Given the description of an element on the screen output the (x, y) to click on. 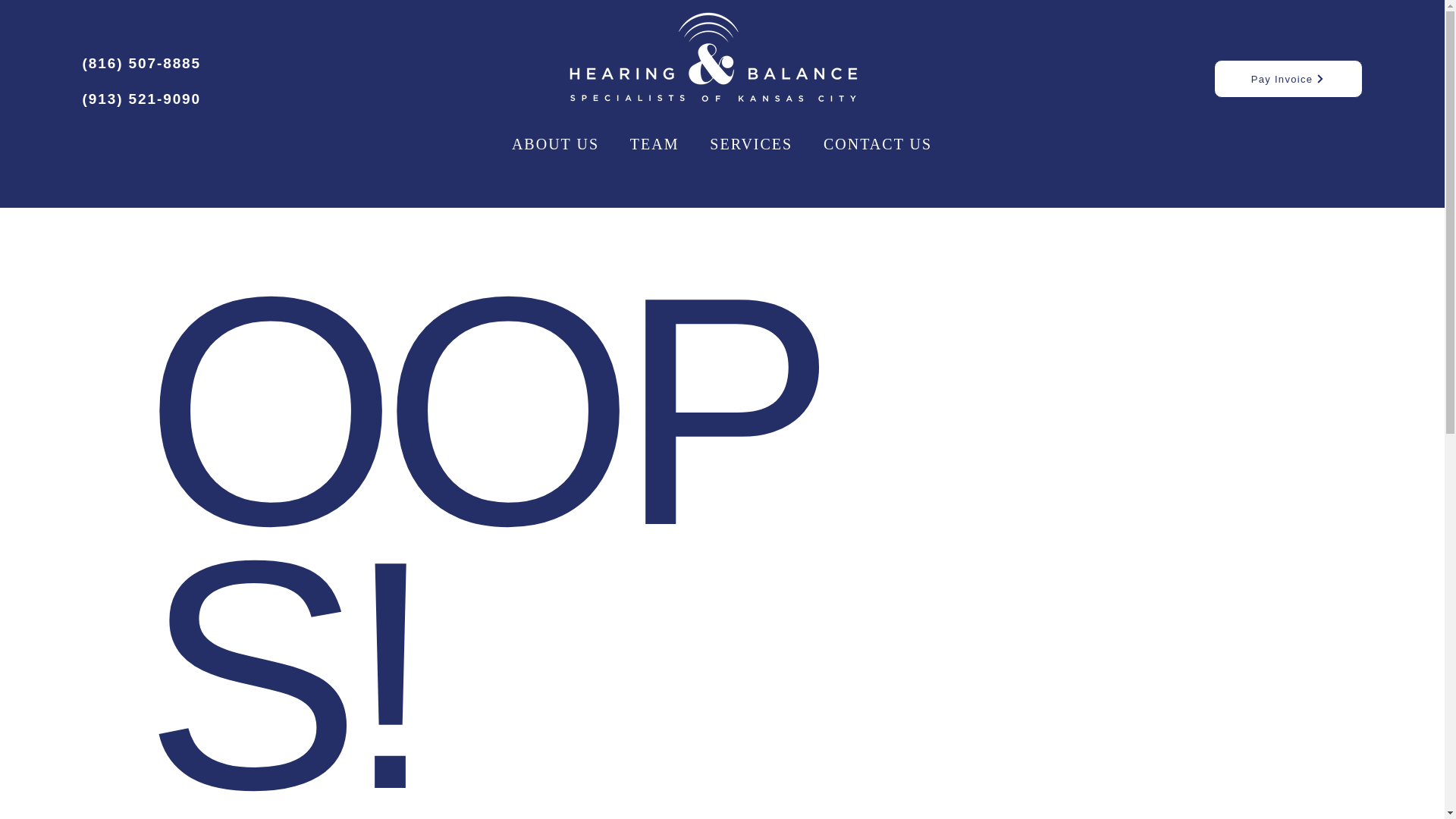
CONTACT US (877, 144)
TEAM (654, 144)
ABOUT US (555, 144)
Pay Invoice (1286, 78)
